Given the description of an element on the screen output the (x, y) to click on. 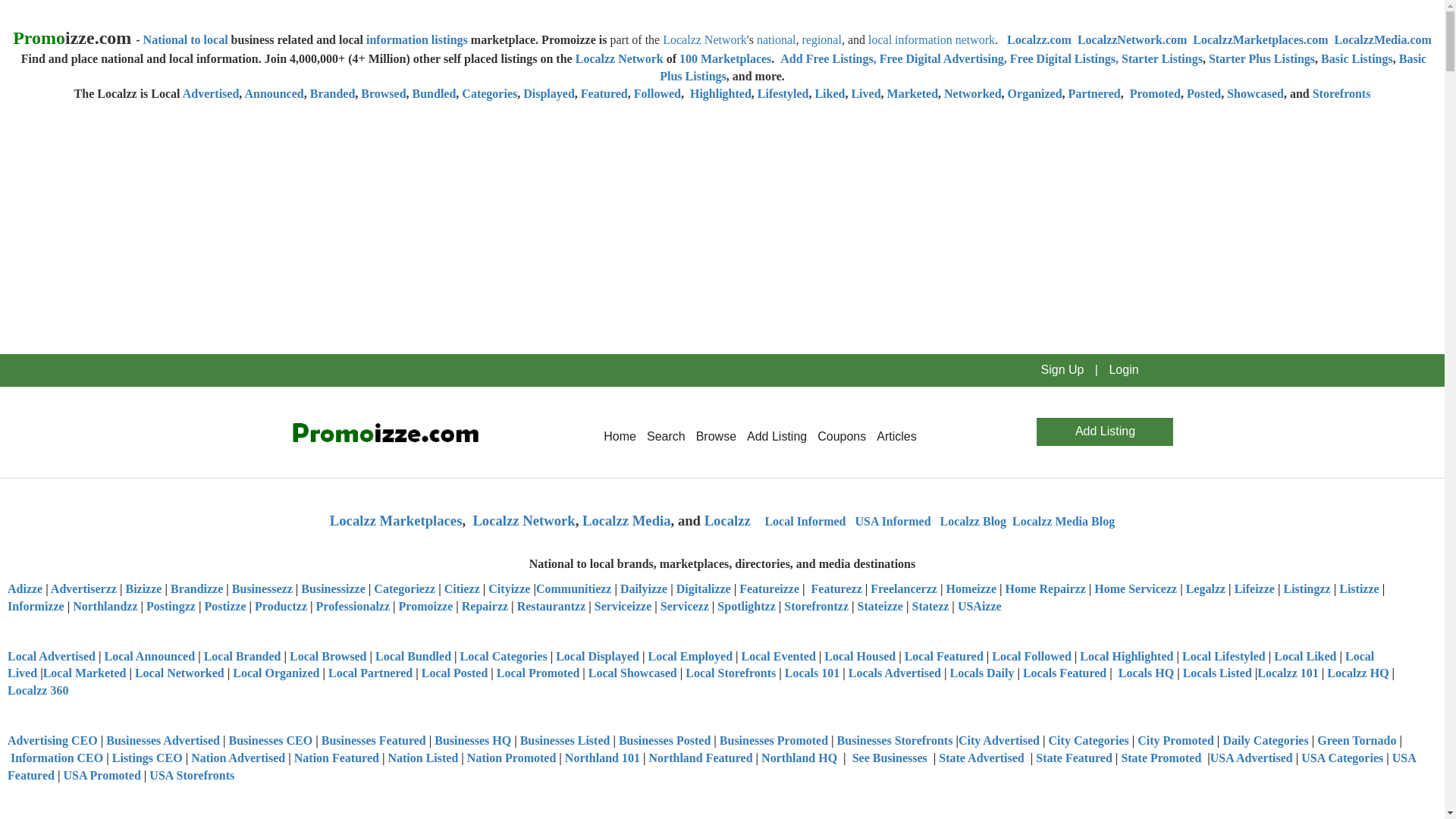
Displayed (548, 92)
Marketed (912, 92)
Categories (488, 92)
Organized (1034, 92)
Starter Listings (1161, 58)
Featured (603, 92)
Lived (865, 92)
Free Digital Advertising, (944, 58)
information listings (416, 39)
LocalzzMarketplaces.com (1259, 39)
